Given the description of an element on the screen output the (x, y) to click on. 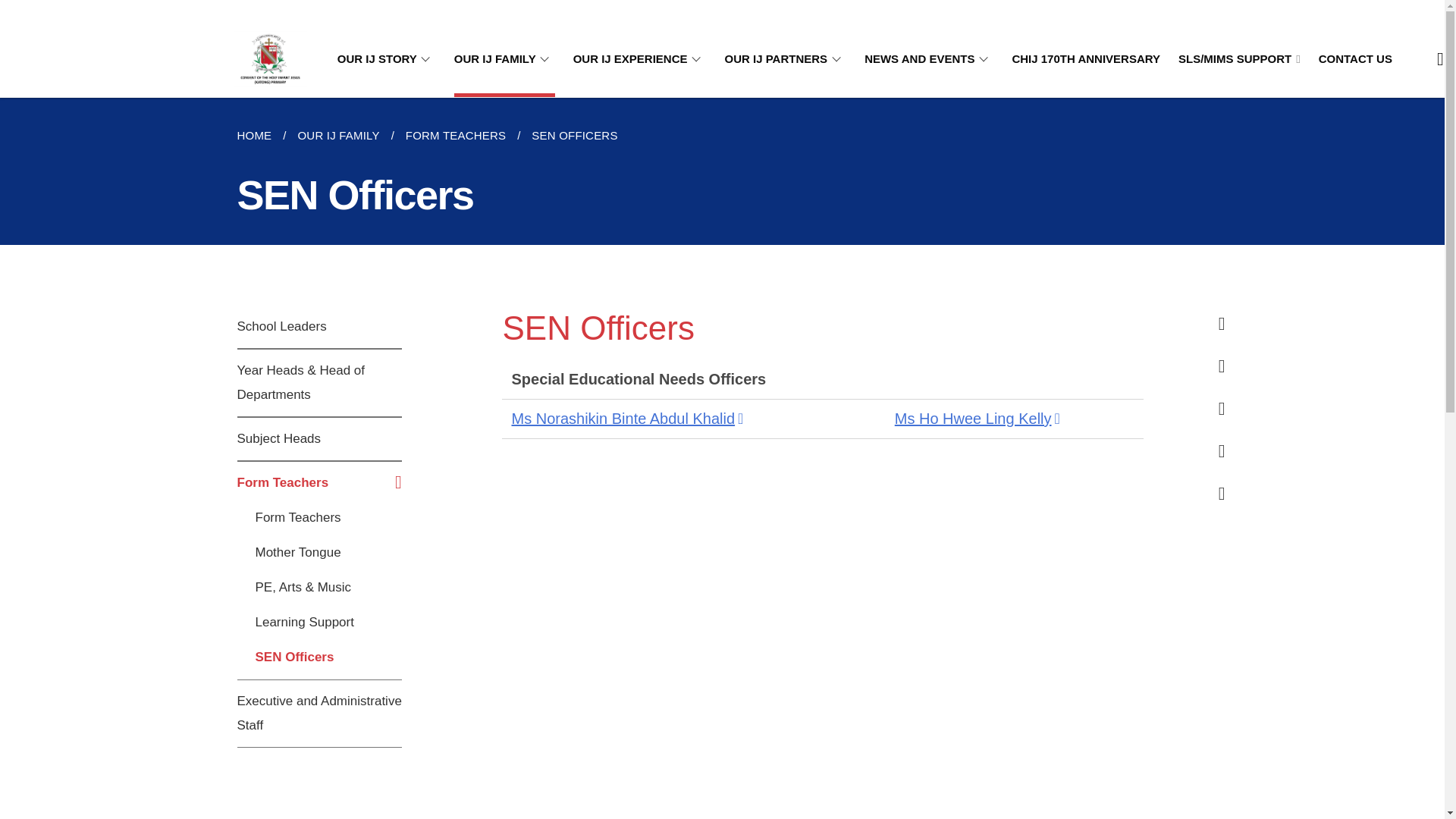
OUR IJ STORY (386, 59)
OUR IJ PARTNERS (786, 59)
NEWS AND EVENTS (928, 59)
OUR IJ FAMILY (504, 59)
OUR IJ EXPERIENCE (639, 59)
